Given the description of an element on the screen output the (x, y) to click on. 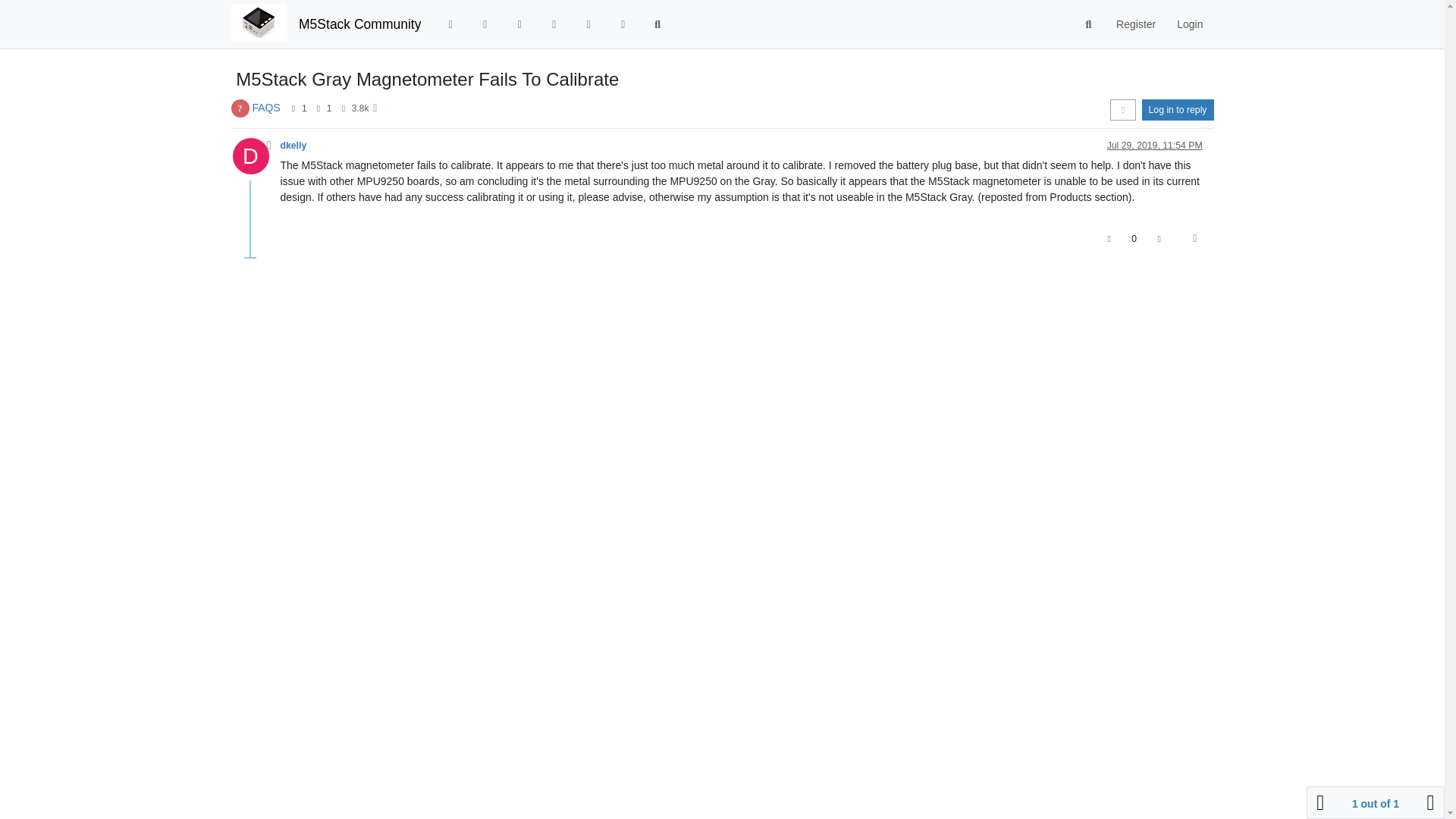
Users (587, 24)
dkelly (294, 145)
Register (1135, 24)
Log in to reply (1177, 109)
M5Stack Community (359, 24)
Groups (622, 24)
Tags (519, 24)
Login (1189, 24)
FAQS (265, 107)
Categories (449, 24)
Popular (554, 24)
Search (657, 24)
D (255, 159)
Search (1088, 24)
Recent (484, 24)
